Given the description of an element on the screen output the (x, y) to click on. 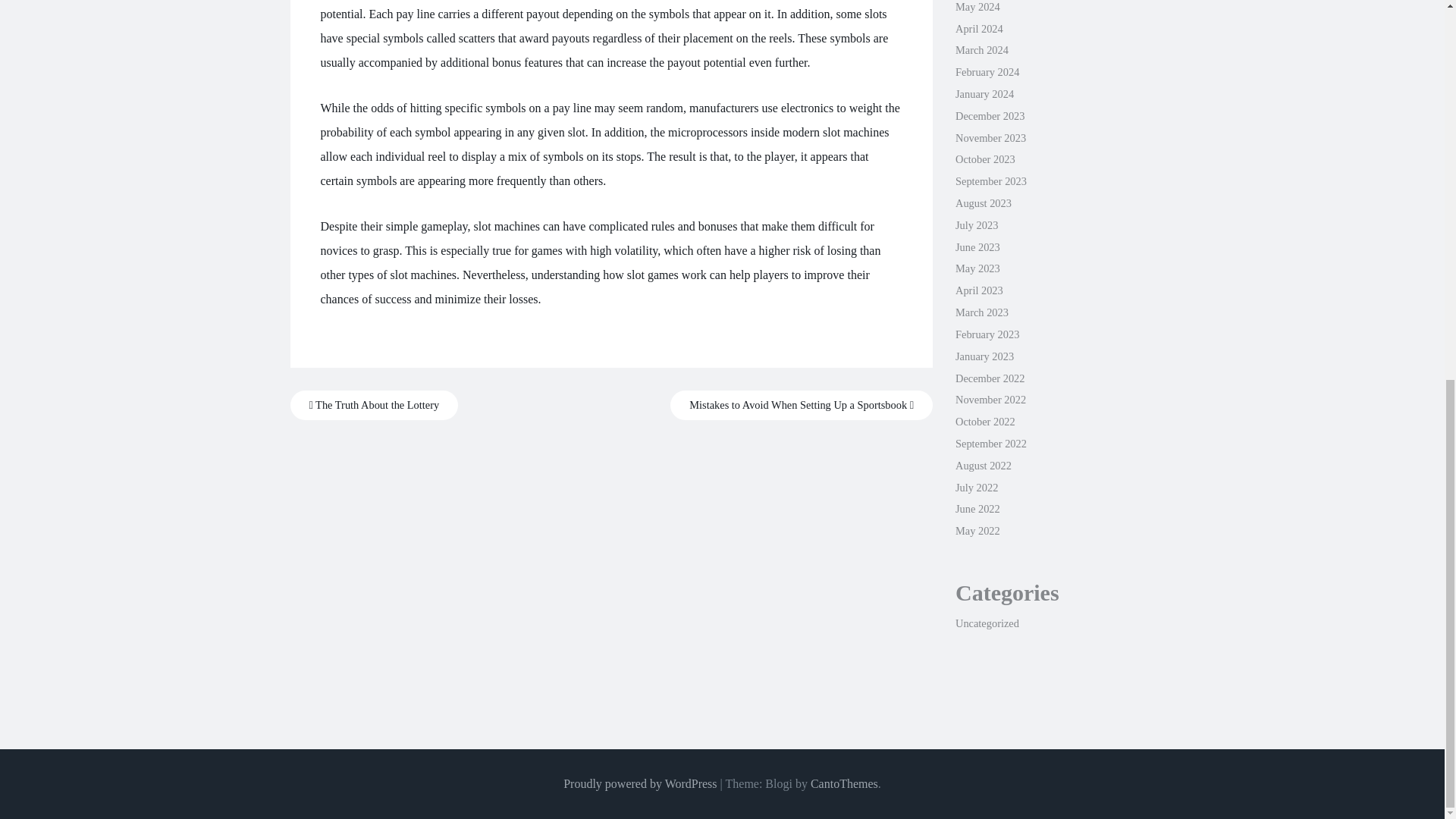
March 2024 (982, 50)
September 2023 (990, 181)
May 2024 (977, 6)
December 2023 (990, 115)
April 2024 (979, 28)
January 2024 (984, 93)
June 2023 (977, 246)
May 2023 (977, 268)
August 2023 (983, 203)
November 2023 (990, 137)
